Given the description of an element on the screen output the (x, y) to click on. 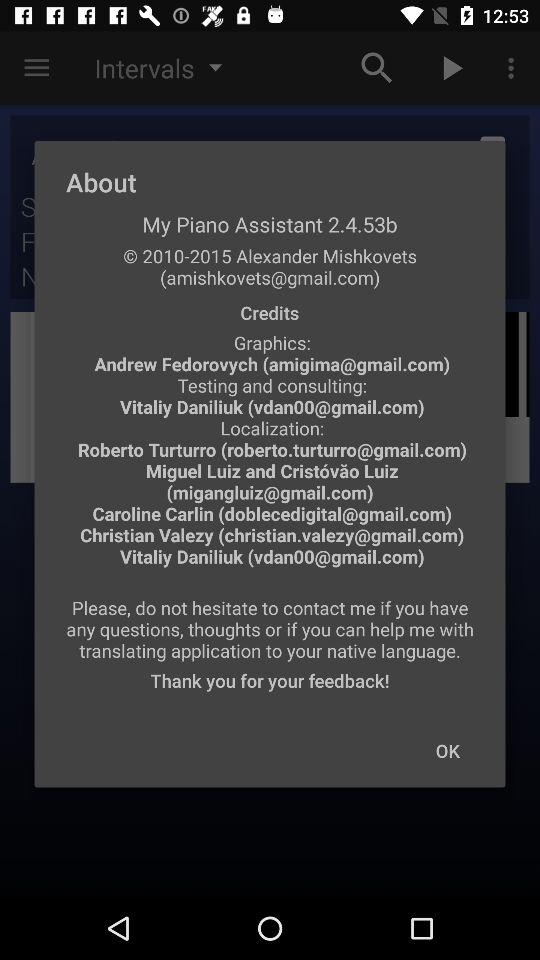
choose icon below the please do not item (447, 750)
